Given the description of an element on the screen output the (x, y) to click on. 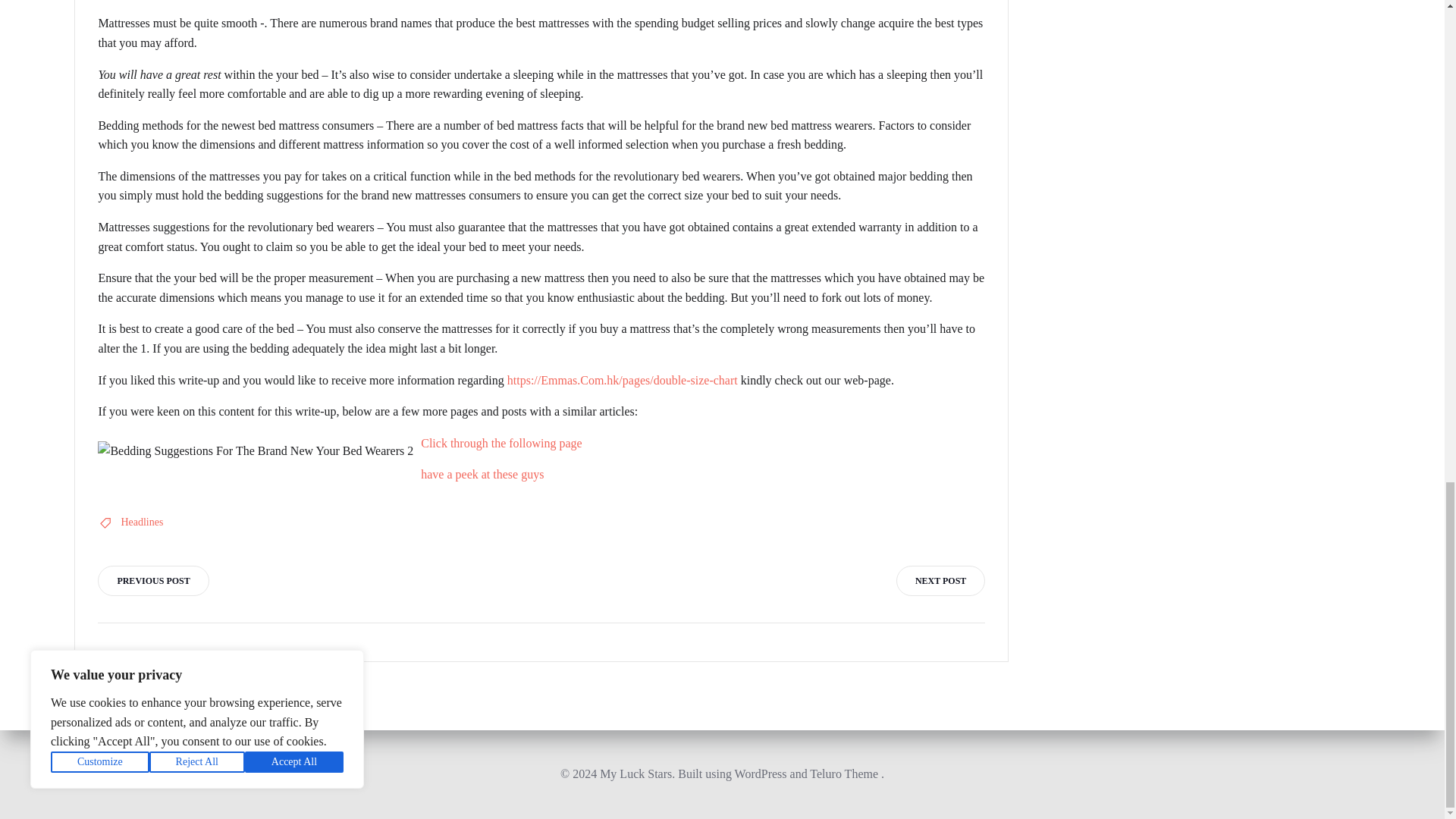
have a peek at these guys (481, 473)
NEXT POST (940, 580)
Click through the following page (500, 442)
Tag: Headlines (141, 522)
PREVIOUS POST (152, 580)
Headlines (141, 522)
